Given the description of an element on the screen output the (x, y) to click on. 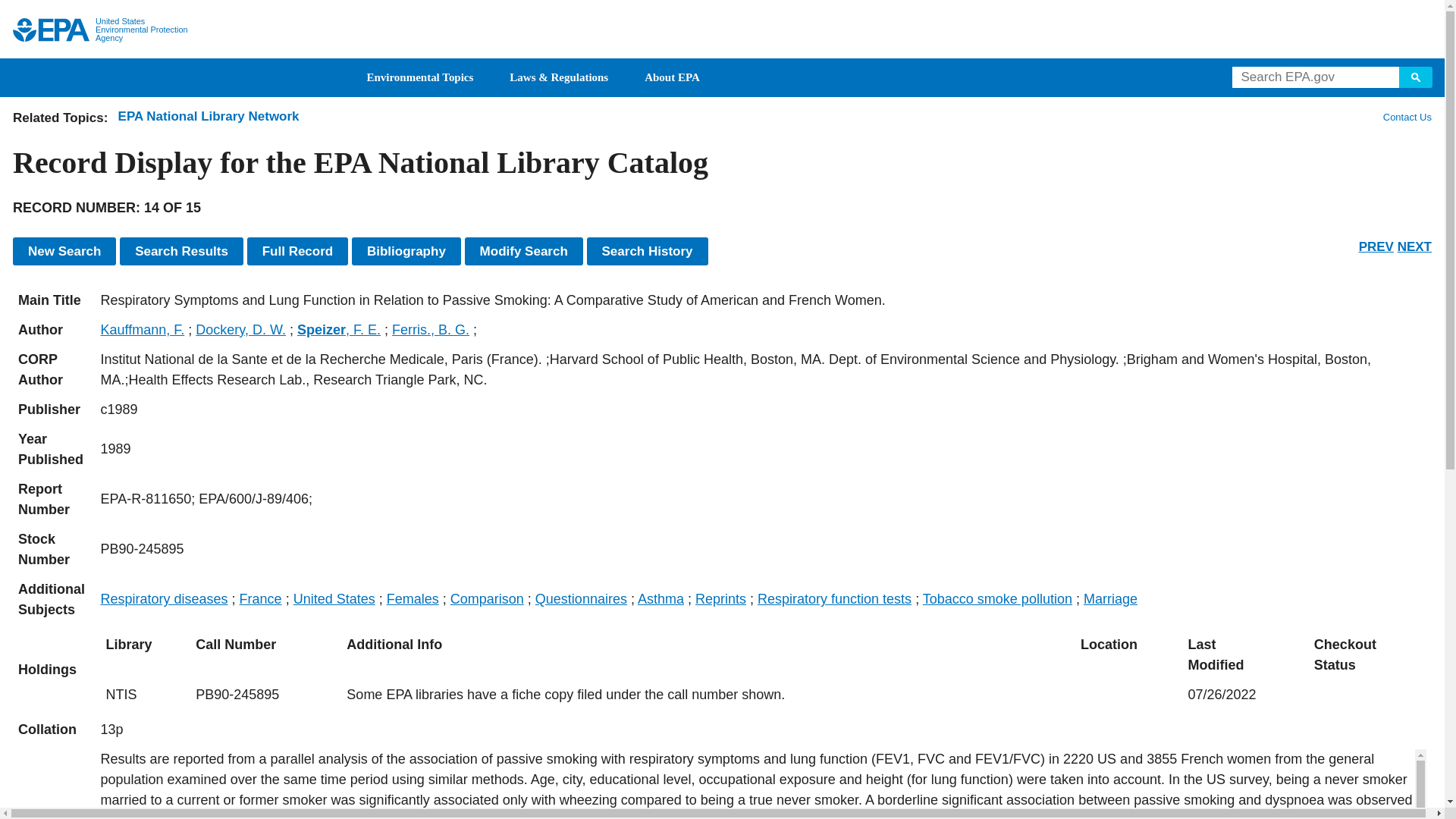
Tobacco smoke pollution (997, 598)
Your Search History (646, 251)
Respiratory diseases (164, 598)
Contact Us (1406, 117)
United States (334, 598)
About EPA (671, 77)
EPA National Library Network (208, 115)
Comparison (486, 598)
Bibliography (406, 251)
